Given the description of an element on the screen output the (x, y) to click on. 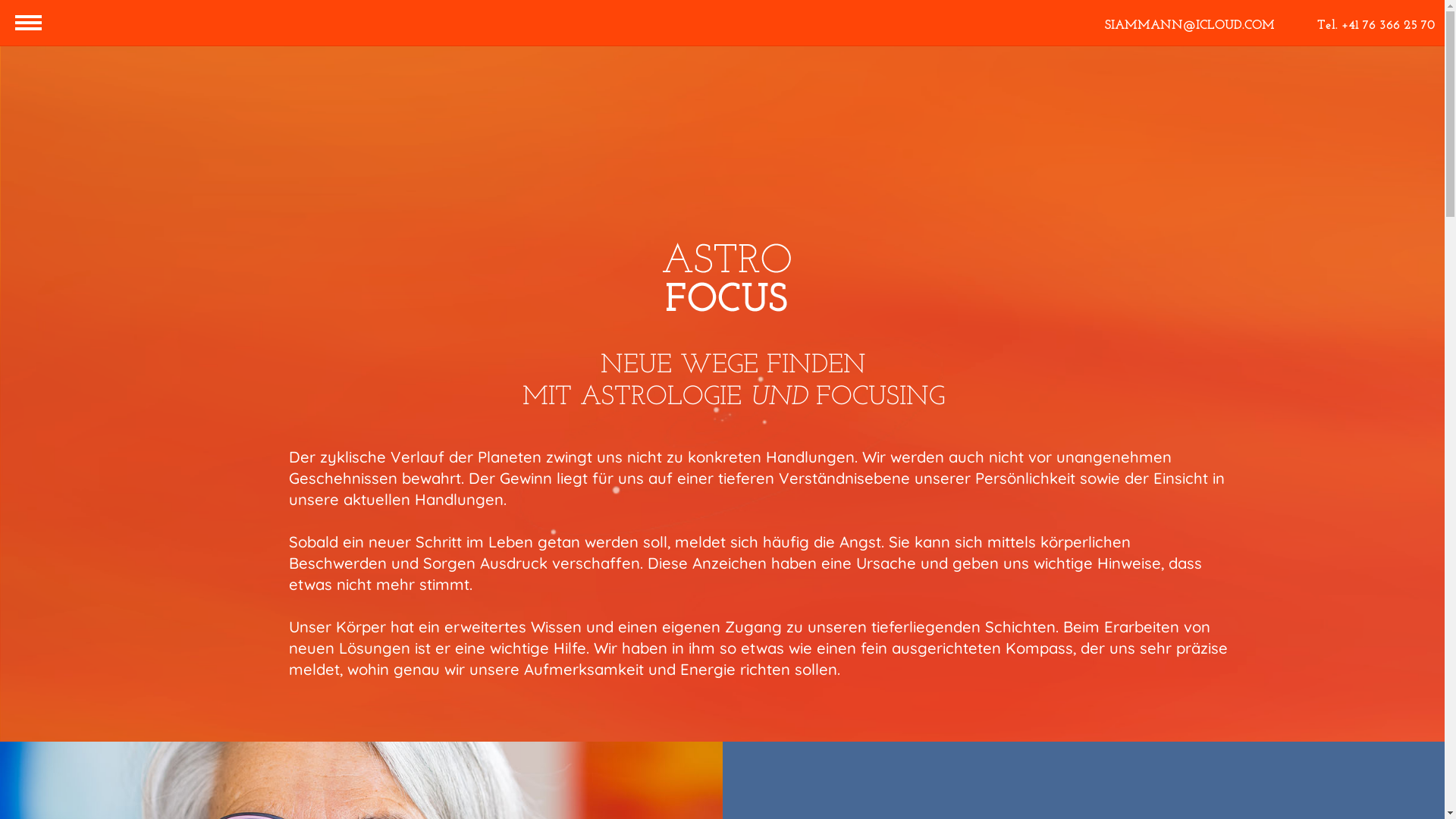
SIAMMANN@ICLOUD.COM Element type: text (1189, 25)
